Given the description of an element on the screen output the (x, y) to click on. 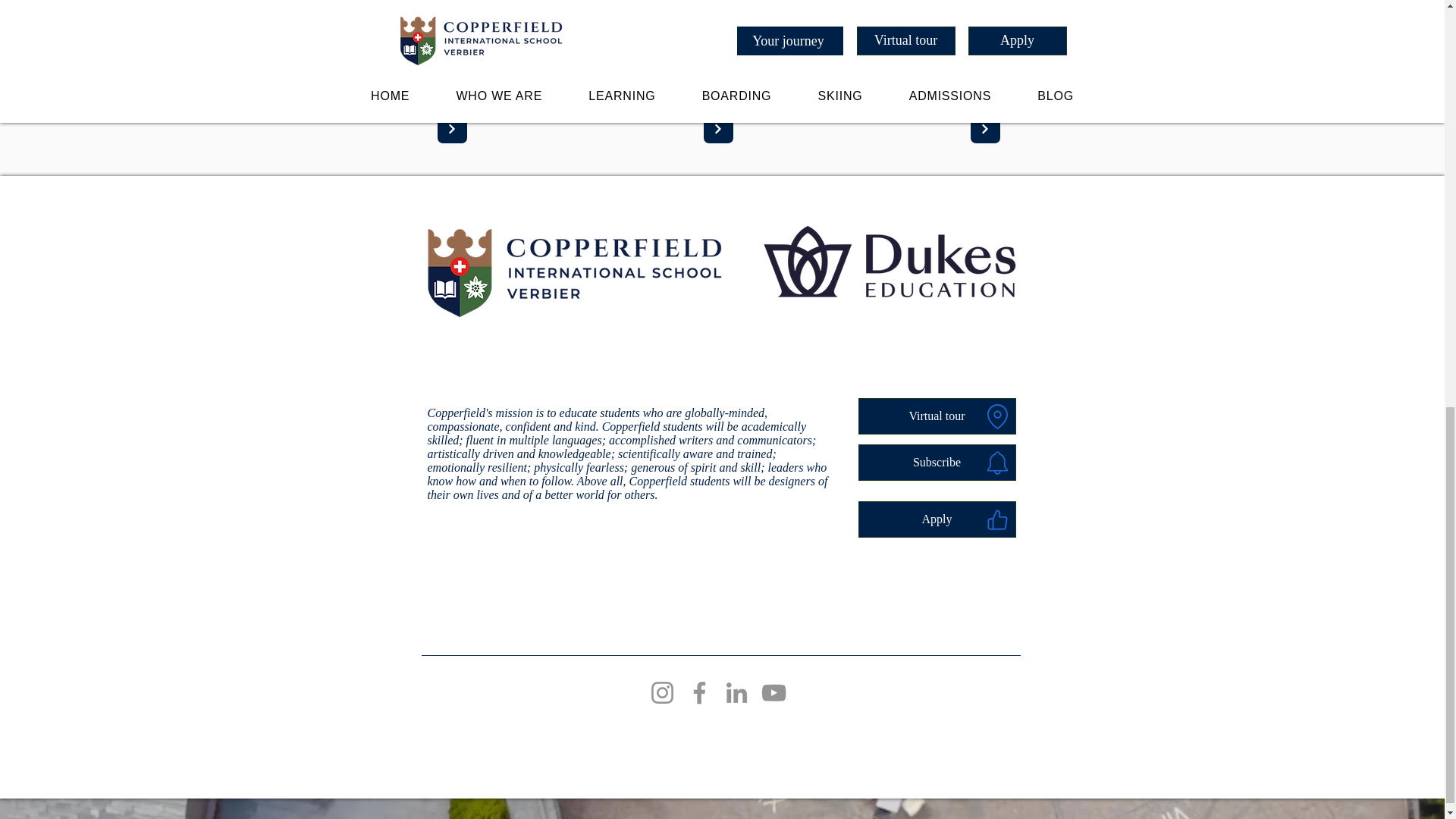
Apply (937, 519)
Subscribe (937, 462)
Virtual tour (937, 416)
